Given the description of an element on the screen output the (x, y) to click on. 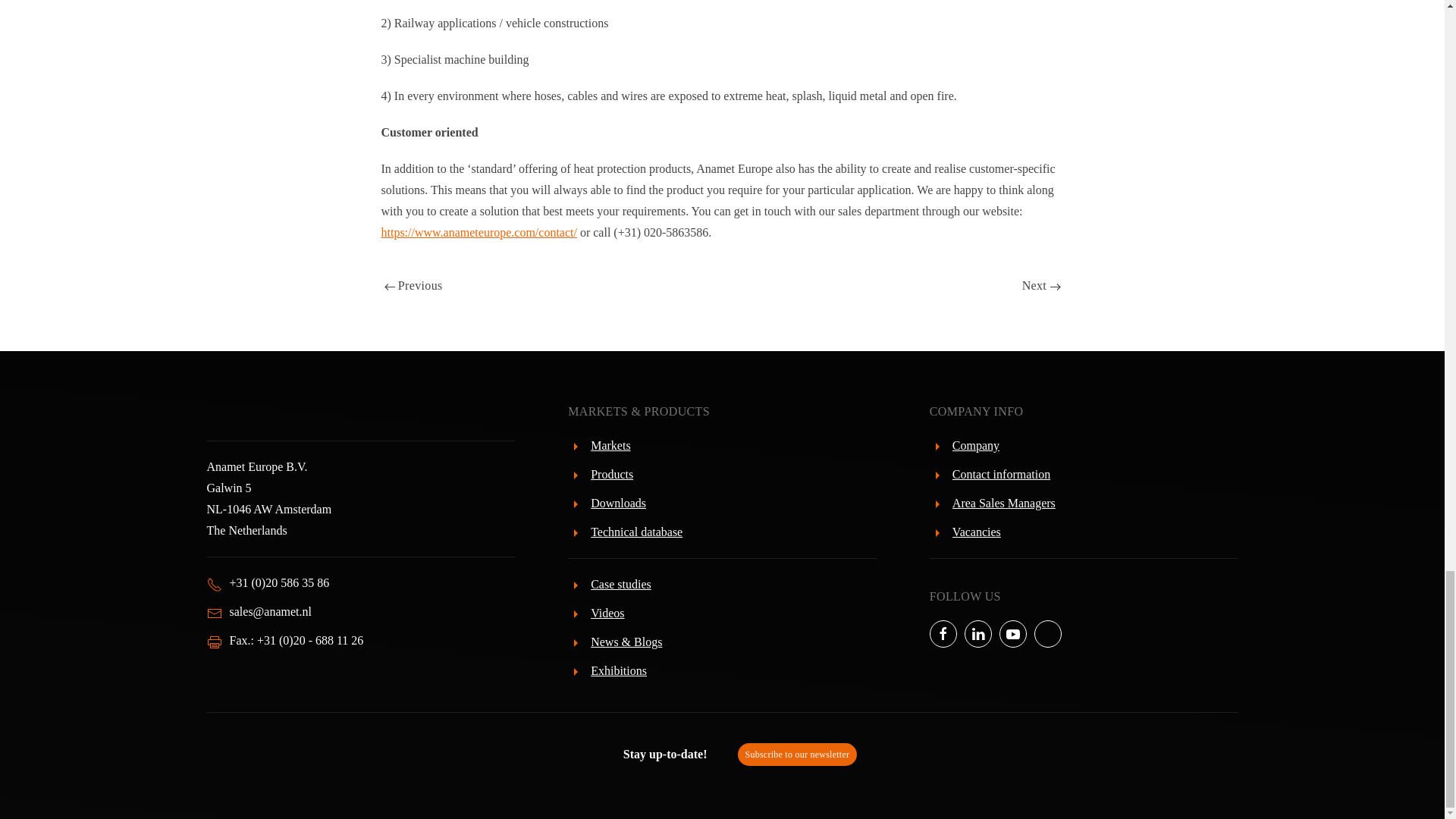
YouTube - Anamet (1012, 633)
X - Anamet (1047, 633)
LinkedIn - Anamet (977, 633)
Facebook - Anamet (943, 633)
